Given the description of an element on the screen output the (x, y) to click on. 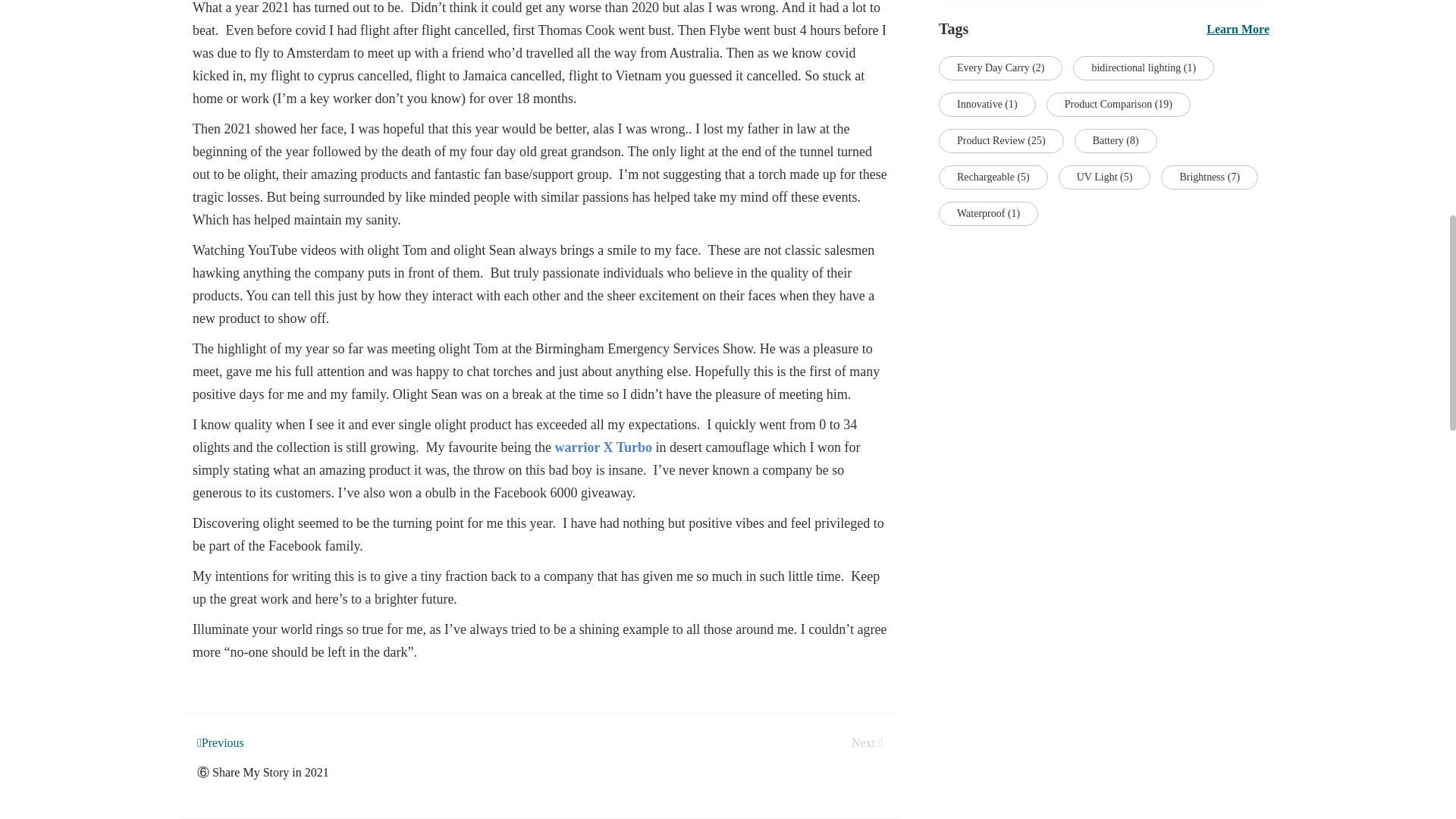
Olight UK YouTube Channel (322, 249)
warrior X Turbo (603, 447)
YouTube videos with olight (322, 249)
